Given the description of an element on the screen output the (x, y) to click on. 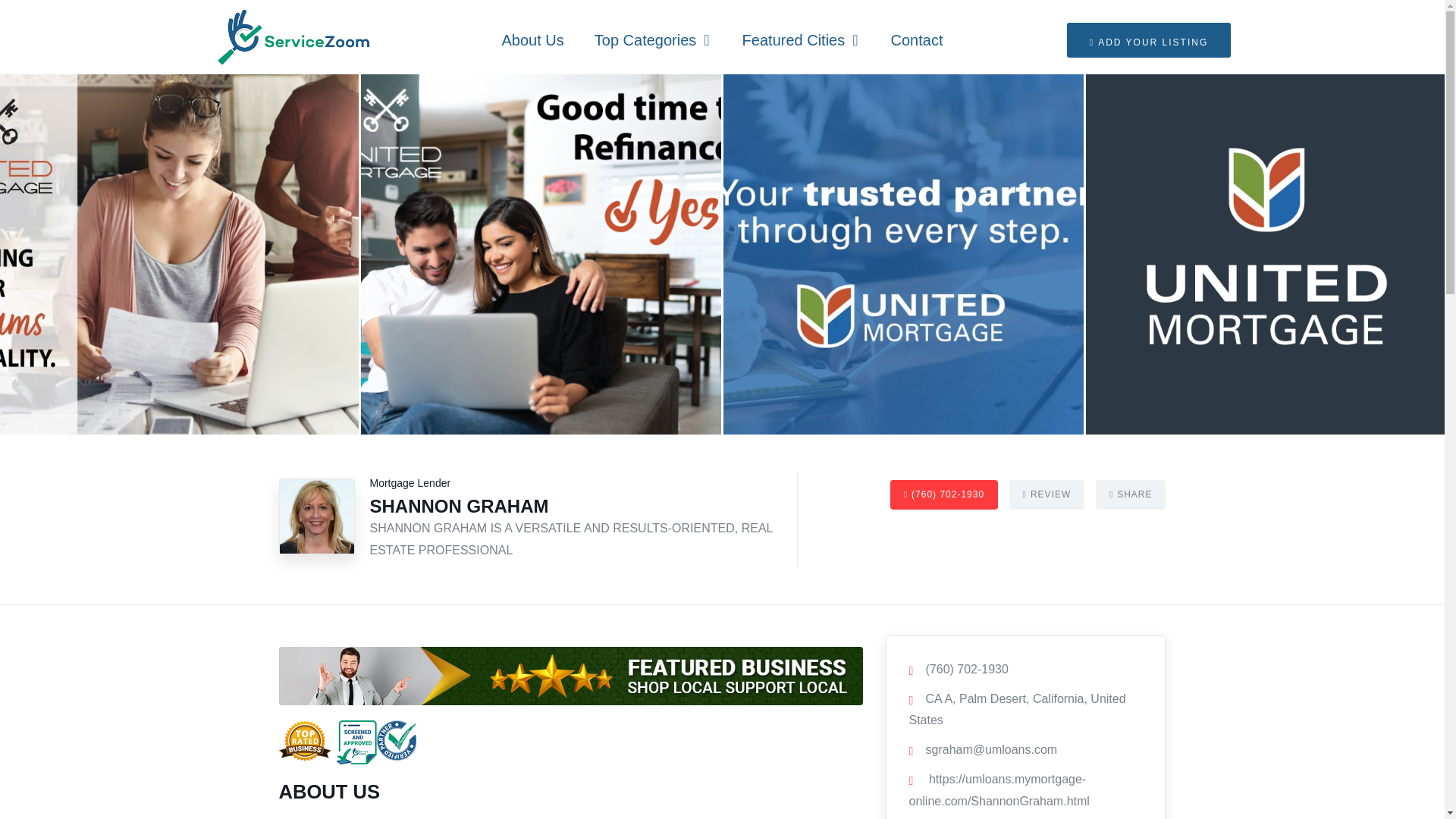
Top Categories (652, 39)
Featured Cities (801, 39)
ADD YOUR LISTING (1149, 39)
Contact (917, 39)
About Us (532, 39)
REVIEW (1046, 494)
